Given the description of an element on the screen output the (x, y) to click on. 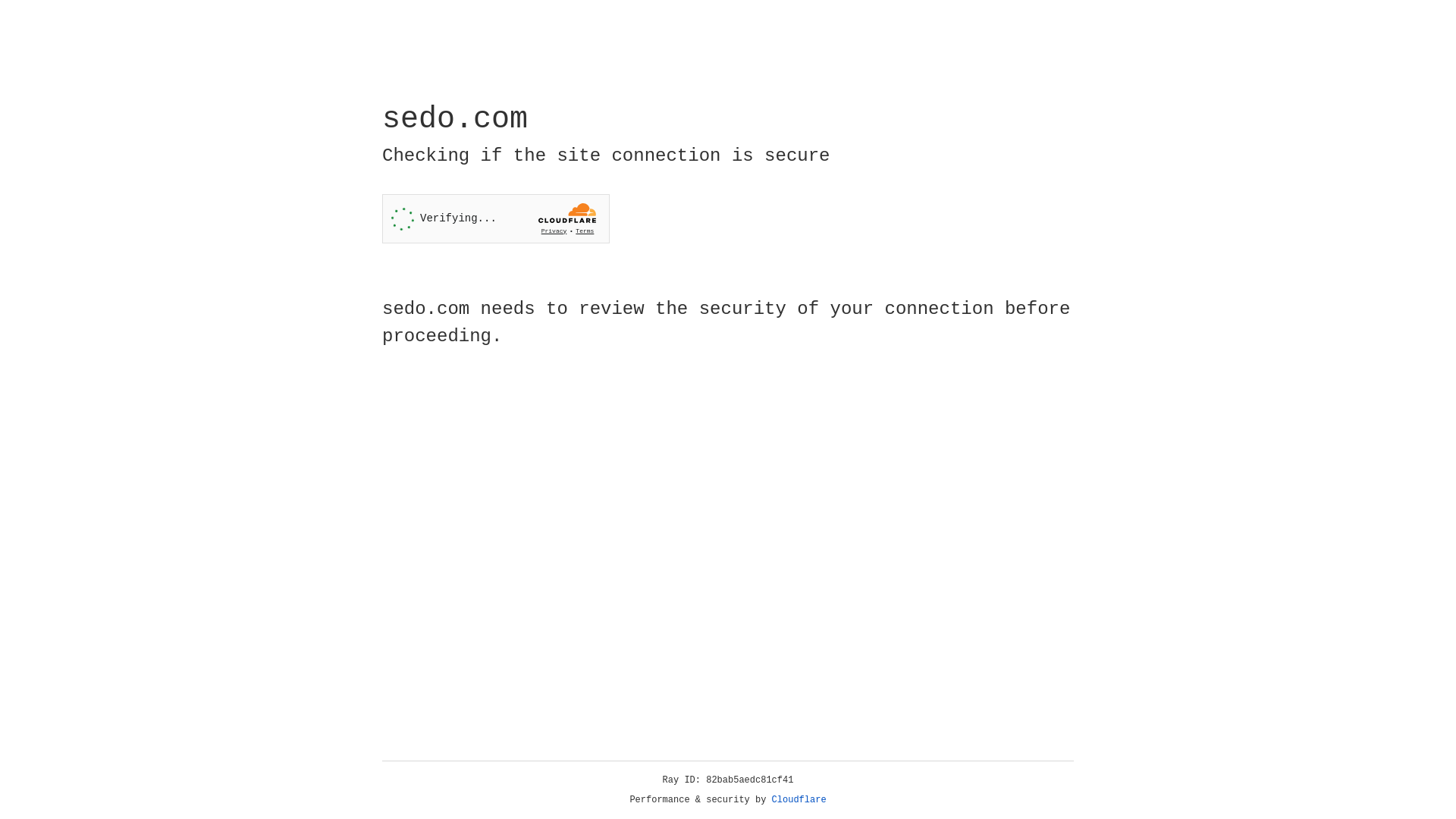
Cloudflare Element type: text (798, 799)
Widget containing a Cloudflare security challenge Element type: hover (495, 218)
